Given the description of an element on the screen output the (x, y) to click on. 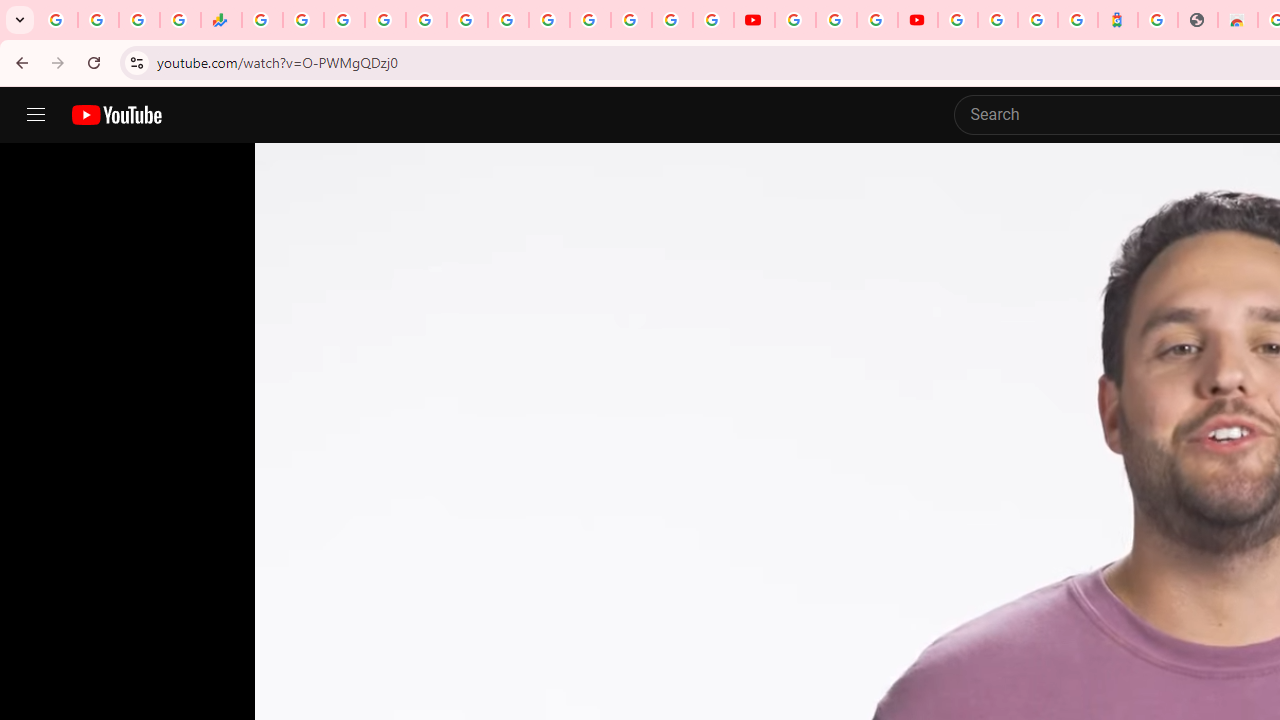
YouTube (795, 20)
Content Creator Programs & Opportunities - YouTube Creators (918, 20)
